Given the description of an element on the screen output the (x, y) to click on. 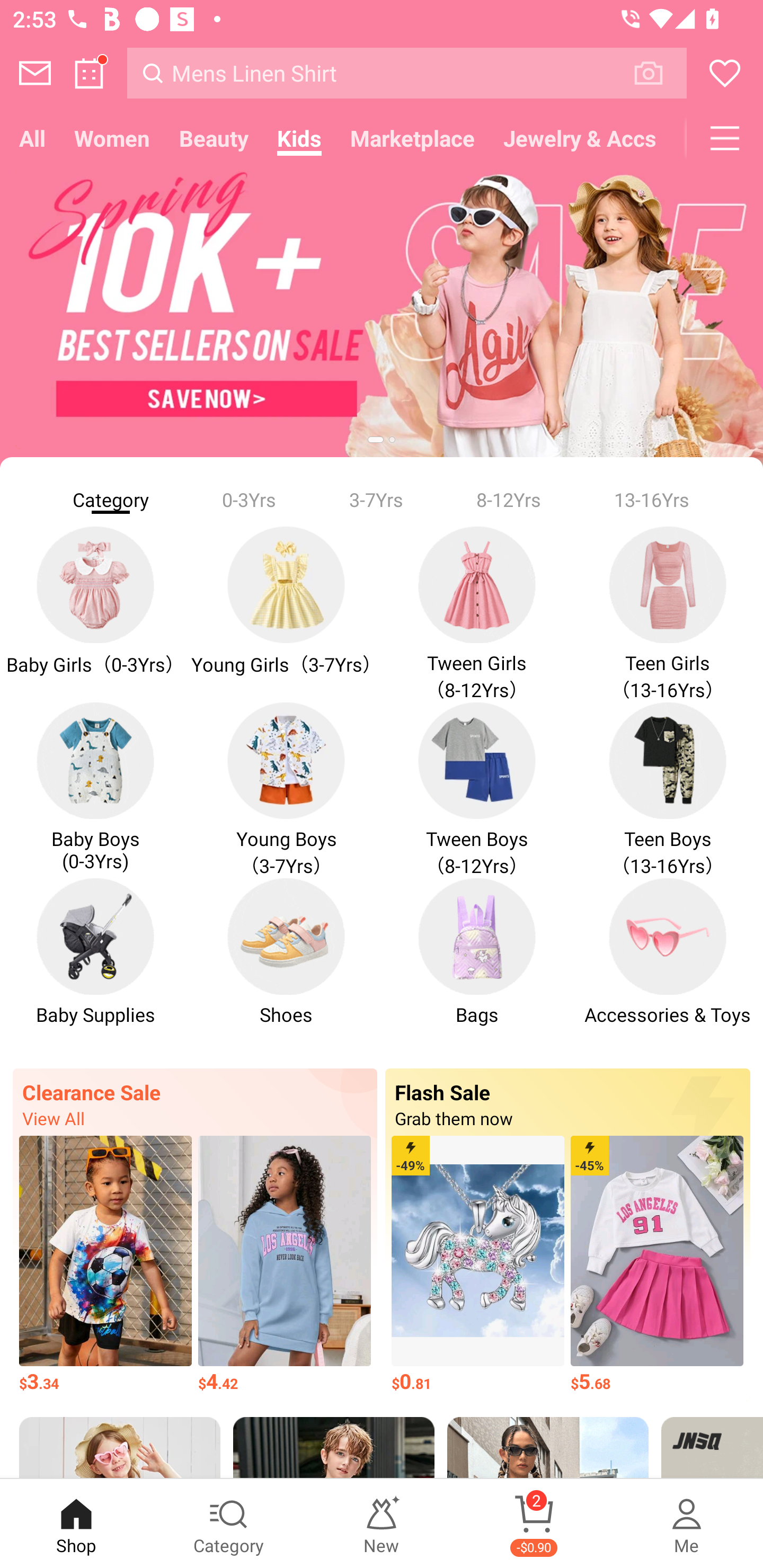
Wishlist (724, 72)
VISUAL SEARCH (657, 72)
All (31, 137)
Women (111, 137)
Beauty (213, 137)
Kids (298, 137)
Marketplace (412, 137)
Jewelry & Accs (580, 137)
0-3Yrs (249, 499)
3-7Yrs (376, 499)
8-12Yrs (508, 499)
13-16Yrs (651, 499)
Baby Girls（0-3Yrs） (95, 614)
Young Girls（3-7Yrs） (285, 614)
Tween Girls（8-12Yrs） (476, 614)
Teen Girls（13-16Yrs） (667, 614)
Baby Boys
(0-3Yrs) (95, 790)
Young Boys（3-7Yrs） (285, 790)
Tween Boys（8-12Yrs） (476, 790)
Teen Boys（13-16Yrs） (667, 790)
Baby Supplies (95, 963)
Shoes (285, 963)
Bags (476, 963)
Accessories & Toys (667, 963)
$3.34 Price $3.34 (105, 1265)
$4.42 Price $4.42 (284, 1265)
-49% $0.81 Price $0.81 (477, 1265)
-45% $5.68 Price $5.68 (656, 1265)
Category (228, 1523)
New (381, 1523)
Cart 2 -$0.90 (533, 1523)
Me (686, 1523)
